Given the description of an element on the screen output the (x, y) to click on. 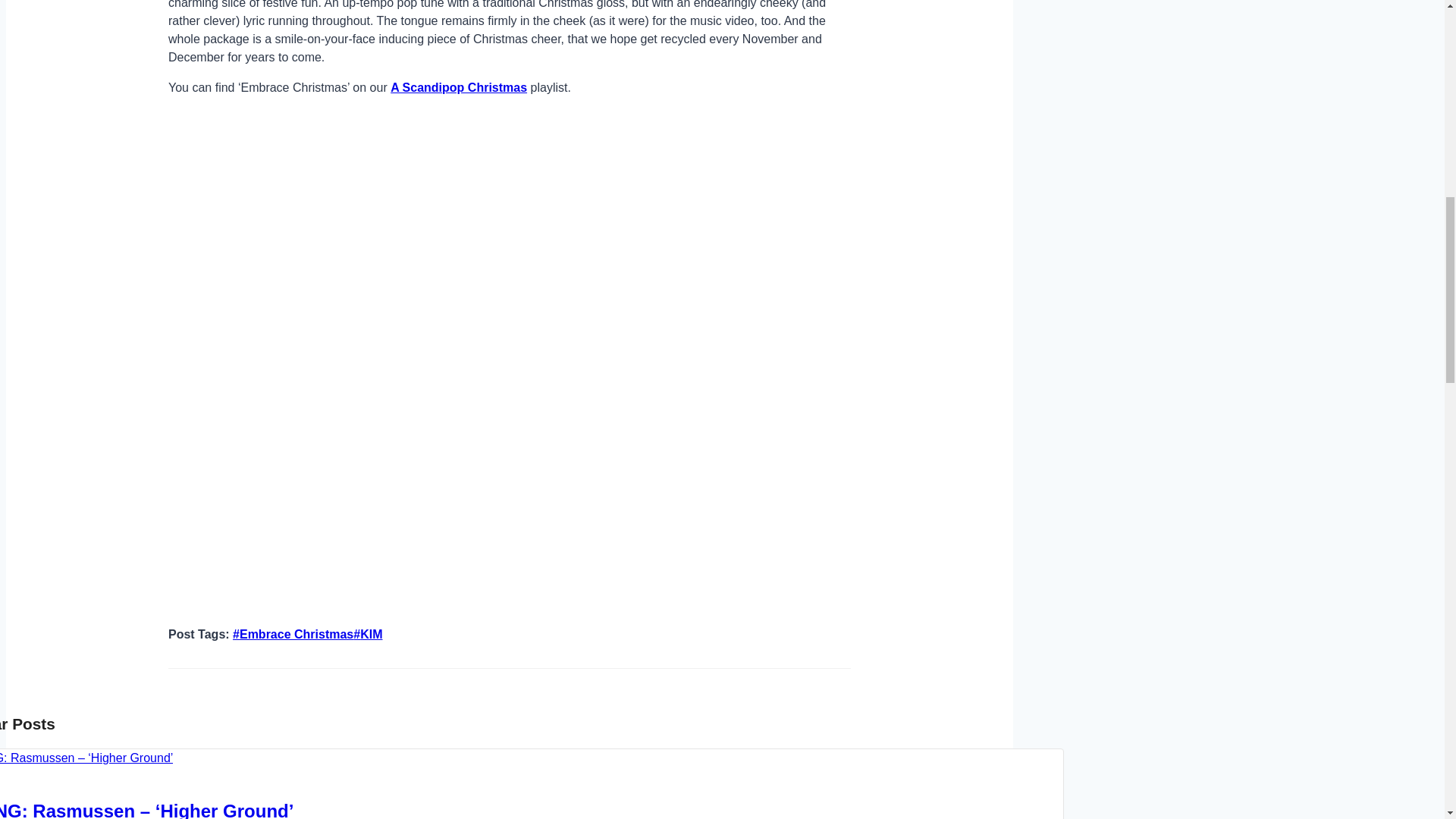
KIM (367, 634)
Spotify Embed: Embrace Christmas (509, 166)
A Scandipop Christmas (458, 87)
Embrace Christmas (292, 634)
